Given the description of an element on the screen output the (x, y) to click on. 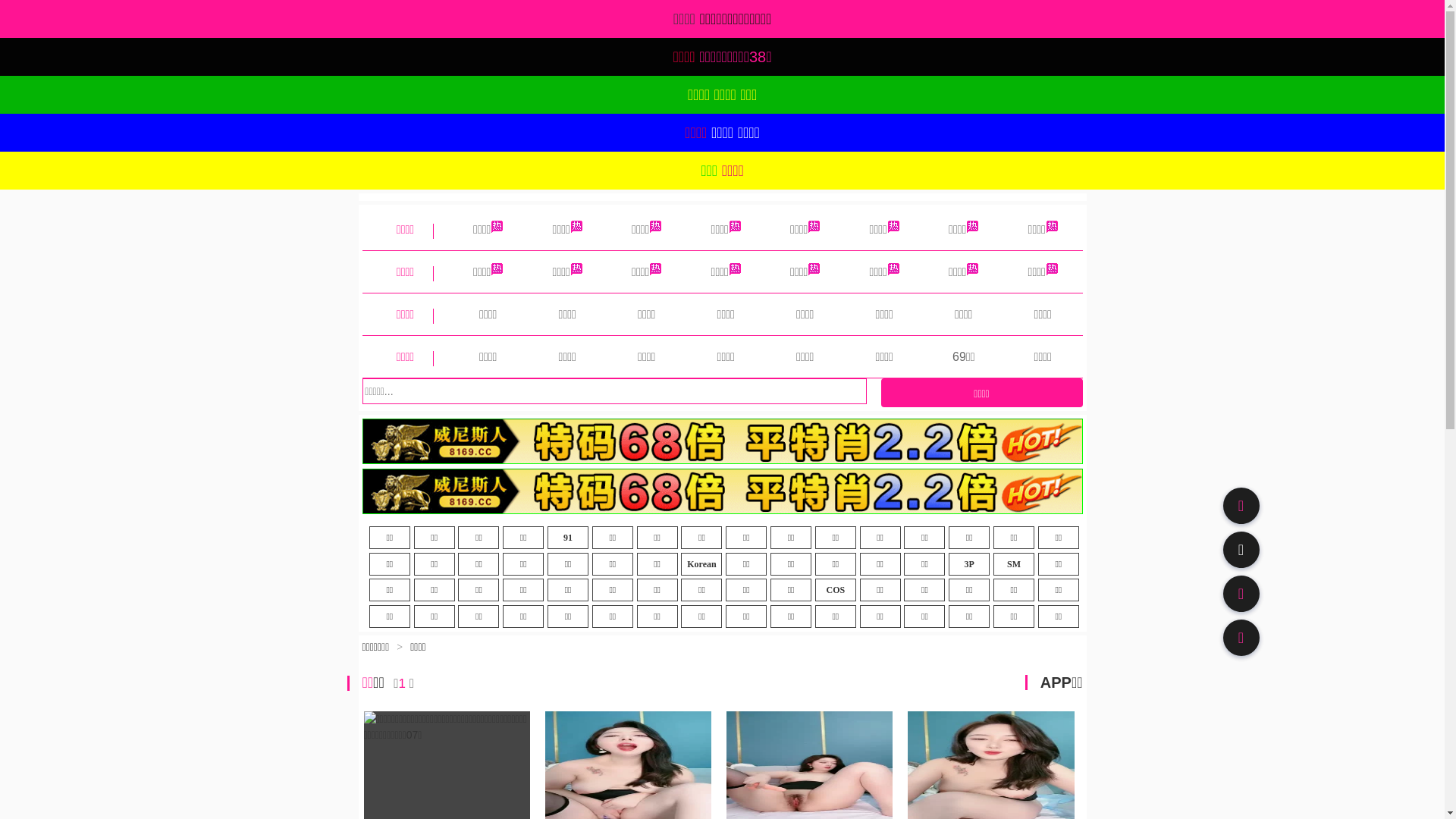
SM Element type: text (1013, 563)
Korean Element type: text (700, 563)
3P Element type: text (968, 563)
91 Element type: text (567, 537)
COS Element type: text (835, 589)
91TV Element type: hover (1240, 593)
